Given the description of an element on the screen output the (x, y) to click on. 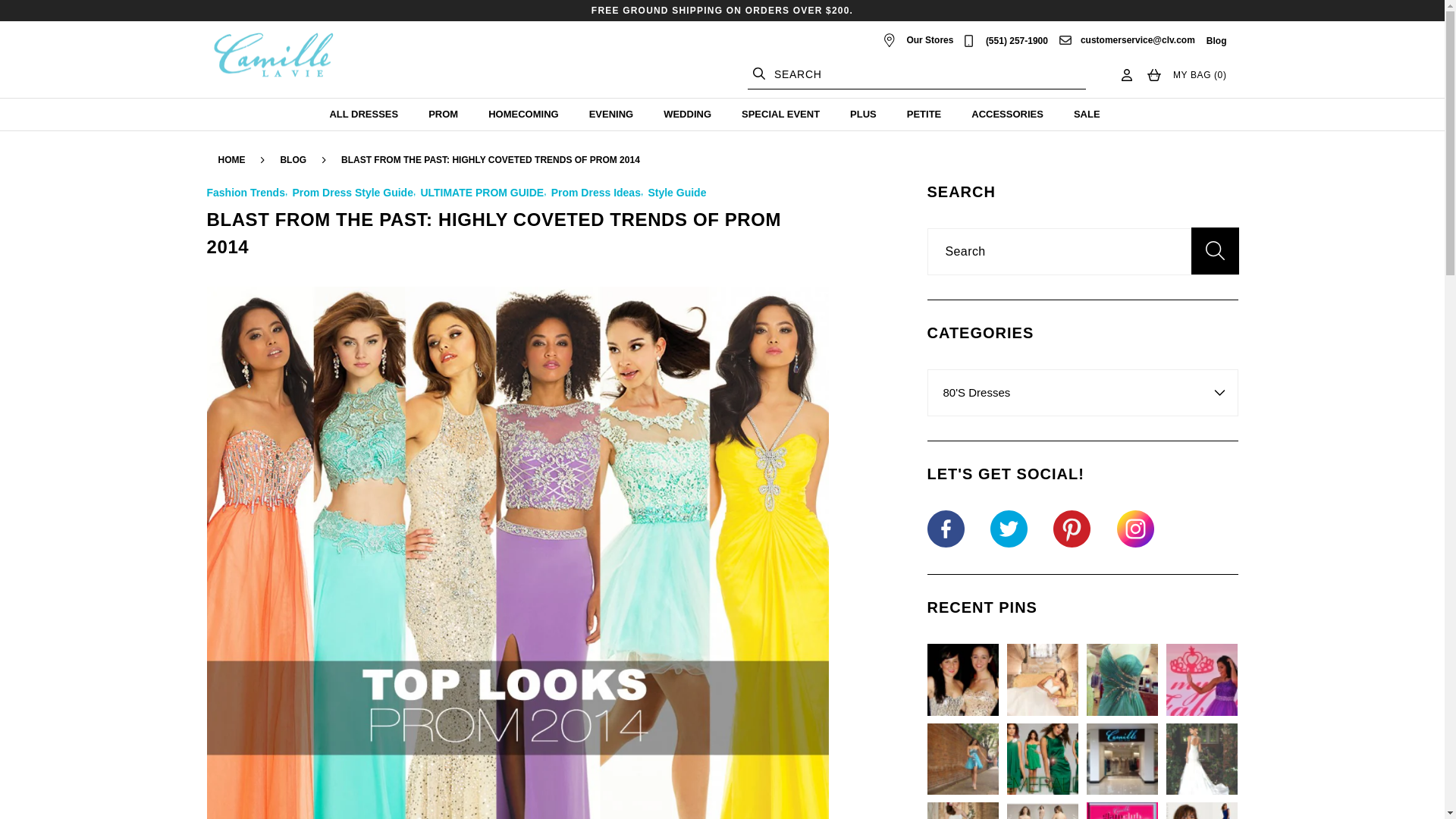
Click here for Email (1137, 40)
Click here for Phone (1016, 40)
Skip to content (45, 17)
